Given the description of an element on the screen output the (x, y) to click on. 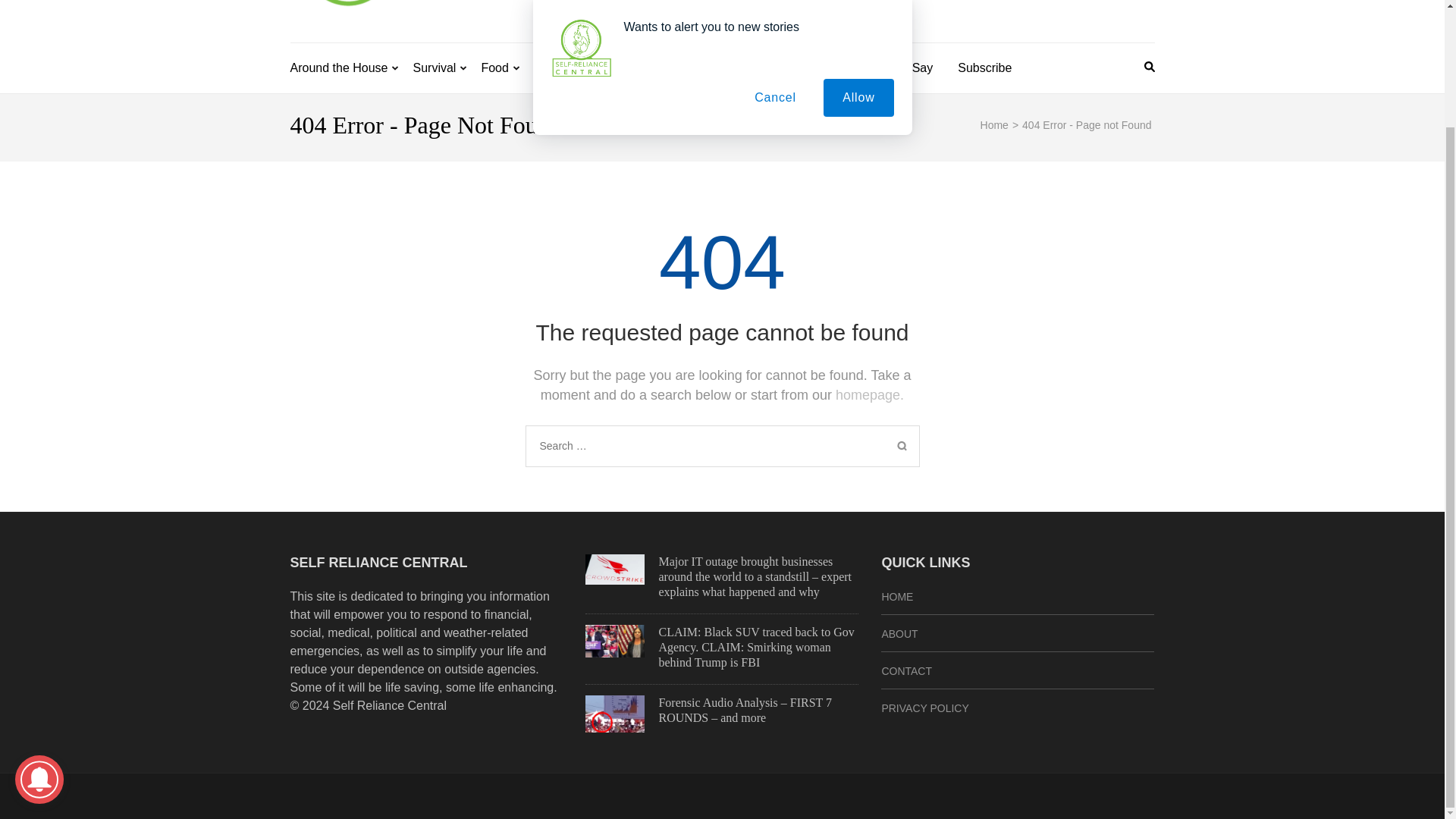
Search (901, 446)
Search (901, 446)
